Given the description of an element on the screen output the (x, y) to click on. 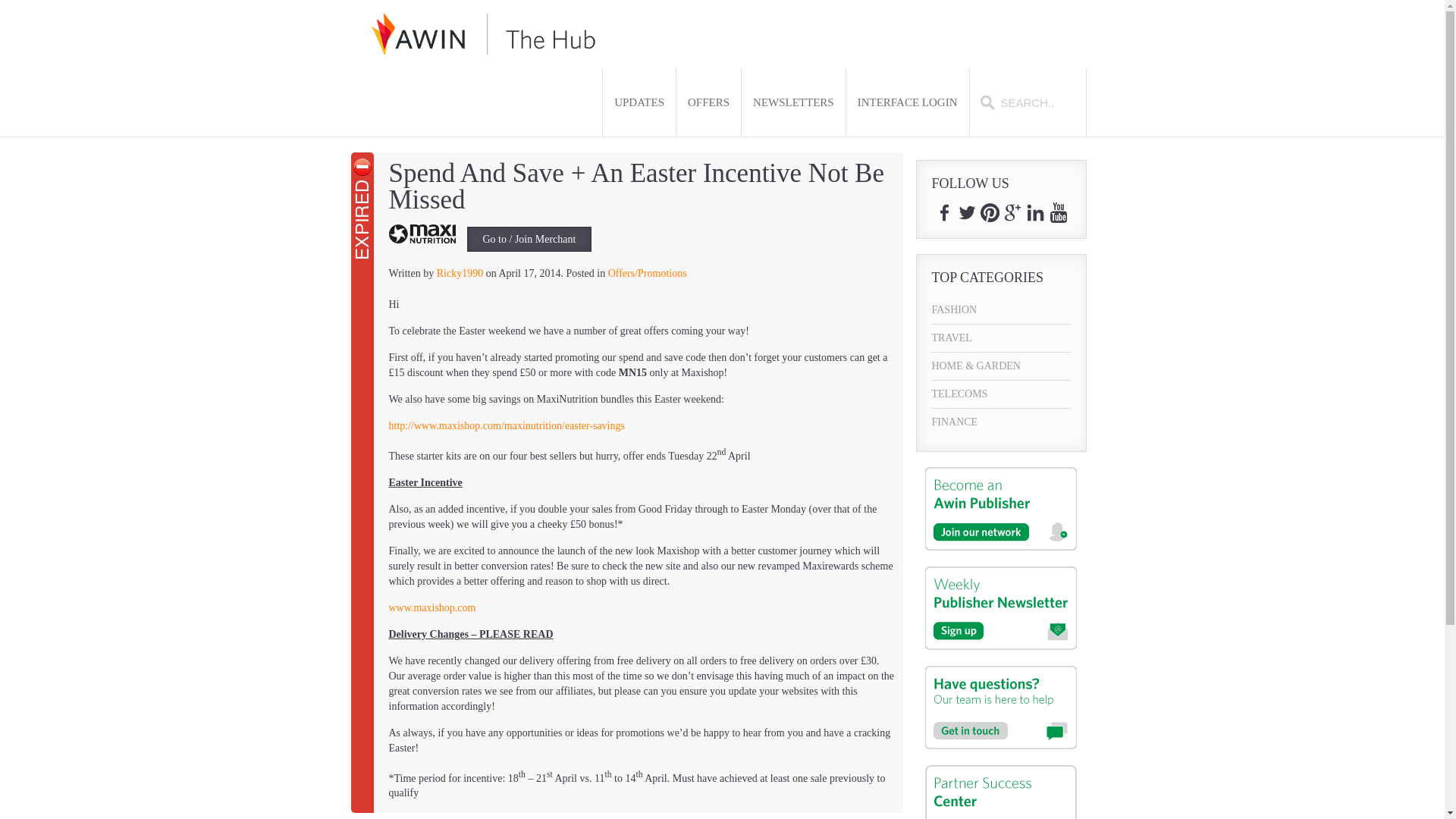
OFFERS (708, 102)
INTERFACE LOGIN (907, 102)
NEWSLETTERS (793, 102)
TELECOMS (1000, 393)
www.maxishop.com (432, 607)
FINANCE (1000, 421)
FASHION (1000, 309)
UPDATES (639, 102)
TRAVEL (1000, 338)
Ricky1990 (459, 273)
